Given the description of an element on the screen output the (x, y) to click on. 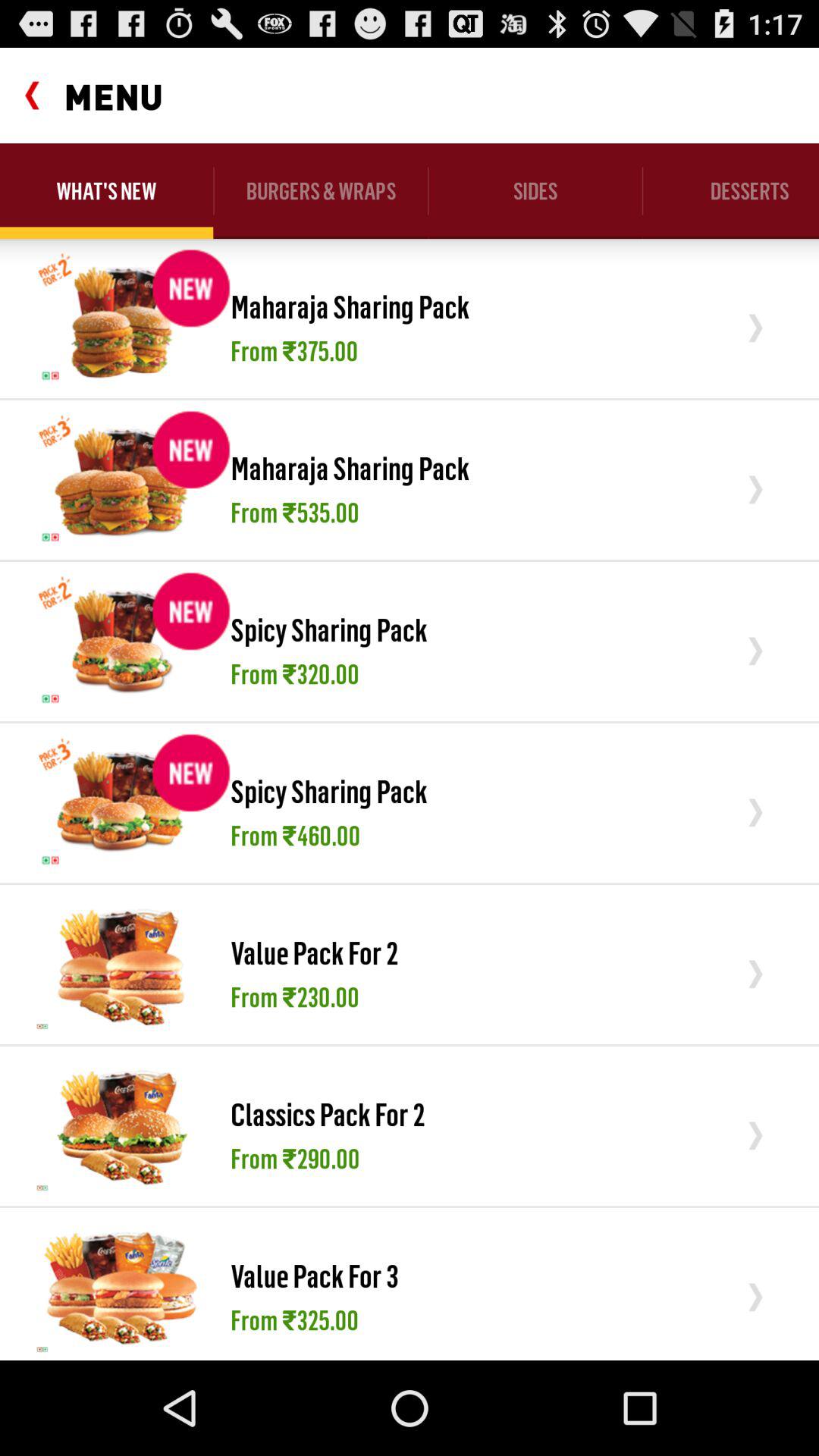
tap icon to the left of the spicy sharing pack item (121, 802)
